Given the description of an element on the screen output the (x, y) to click on. 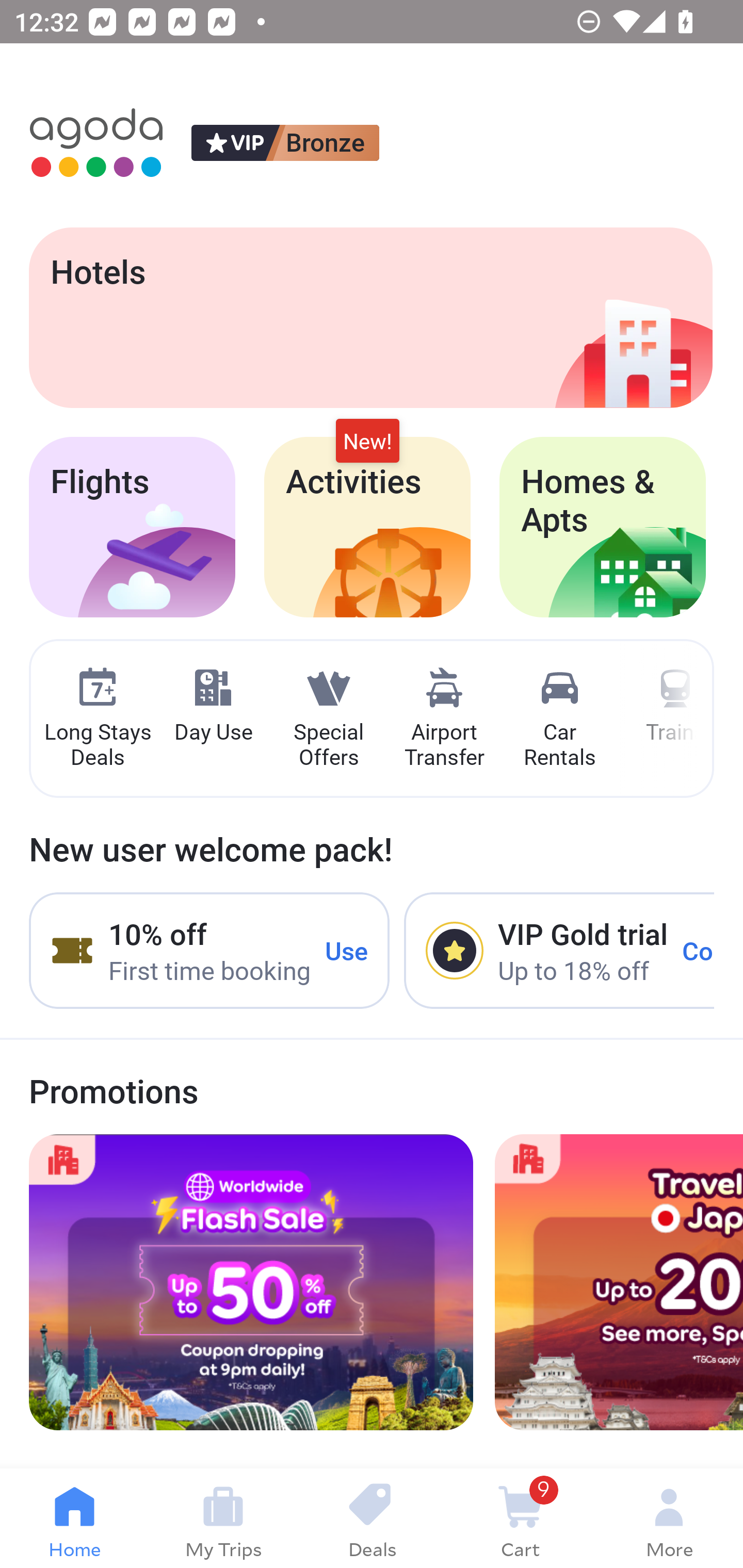
Hotels (370, 317)
New! (367, 441)
Flights (131, 527)
Activities (367, 527)
Homes & Apts (602, 527)
Day Use (213, 706)
Long Stays Deals (97, 718)
Special Offers (328, 718)
Airport Transfer (444, 718)
Car Rentals (559, 718)
Use (346, 950)
Home (74, 1518)
My Trips (222, 1518)
Deals (371, 1518)
9 Cart (519, 1518)
More (668, 1518)
